Given the description of an element on the screen output the (x, y) to click on. 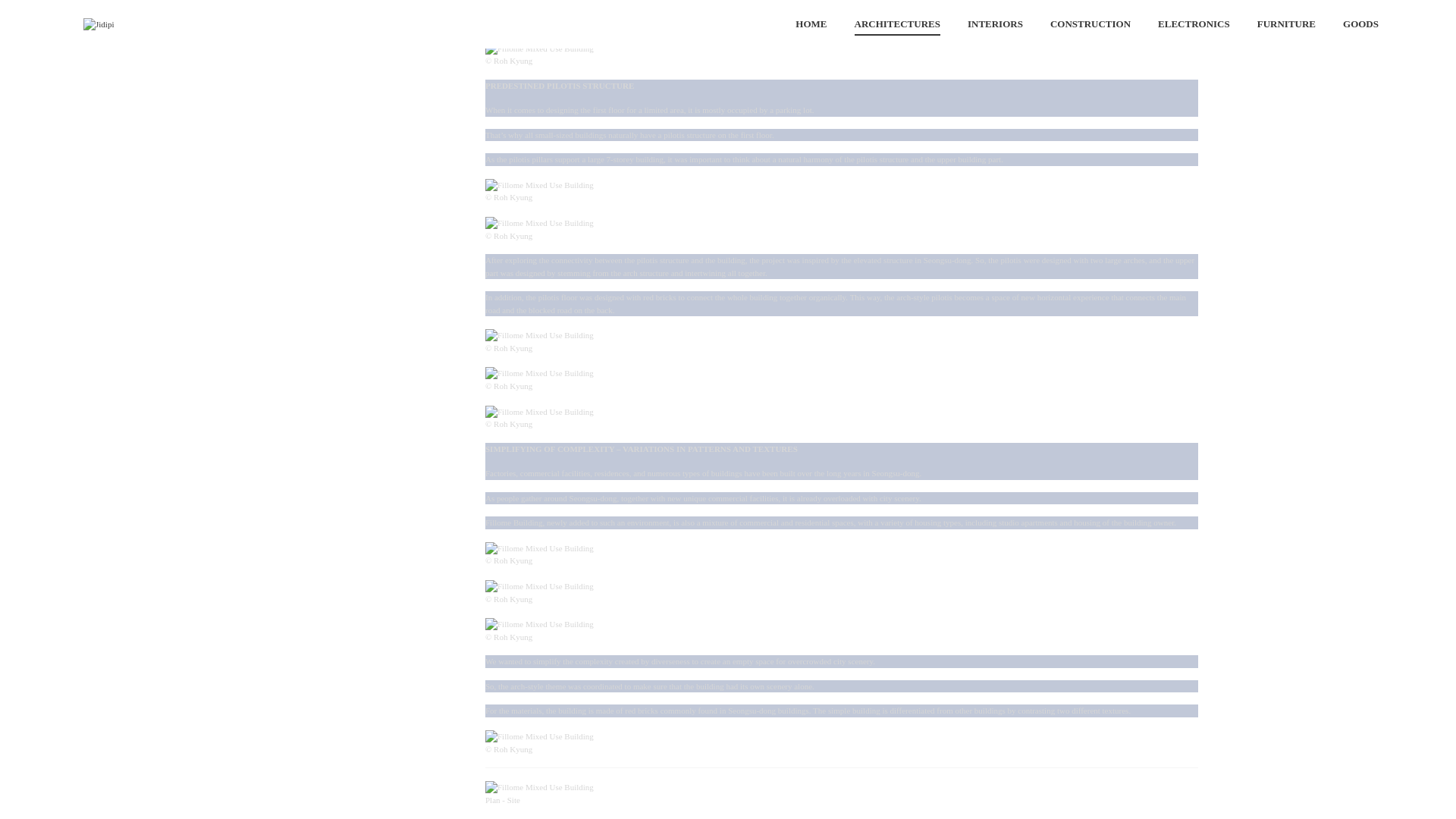
Fillome Mixed Use Building (539, 184)
Fillome Mixed Use Building (539, 221)
Fillome Mixed Use Building (539, 46)
Fillome Mixed Use Building (539, 8)
